Given the description of an element on the screen output the (x, y) to click on. 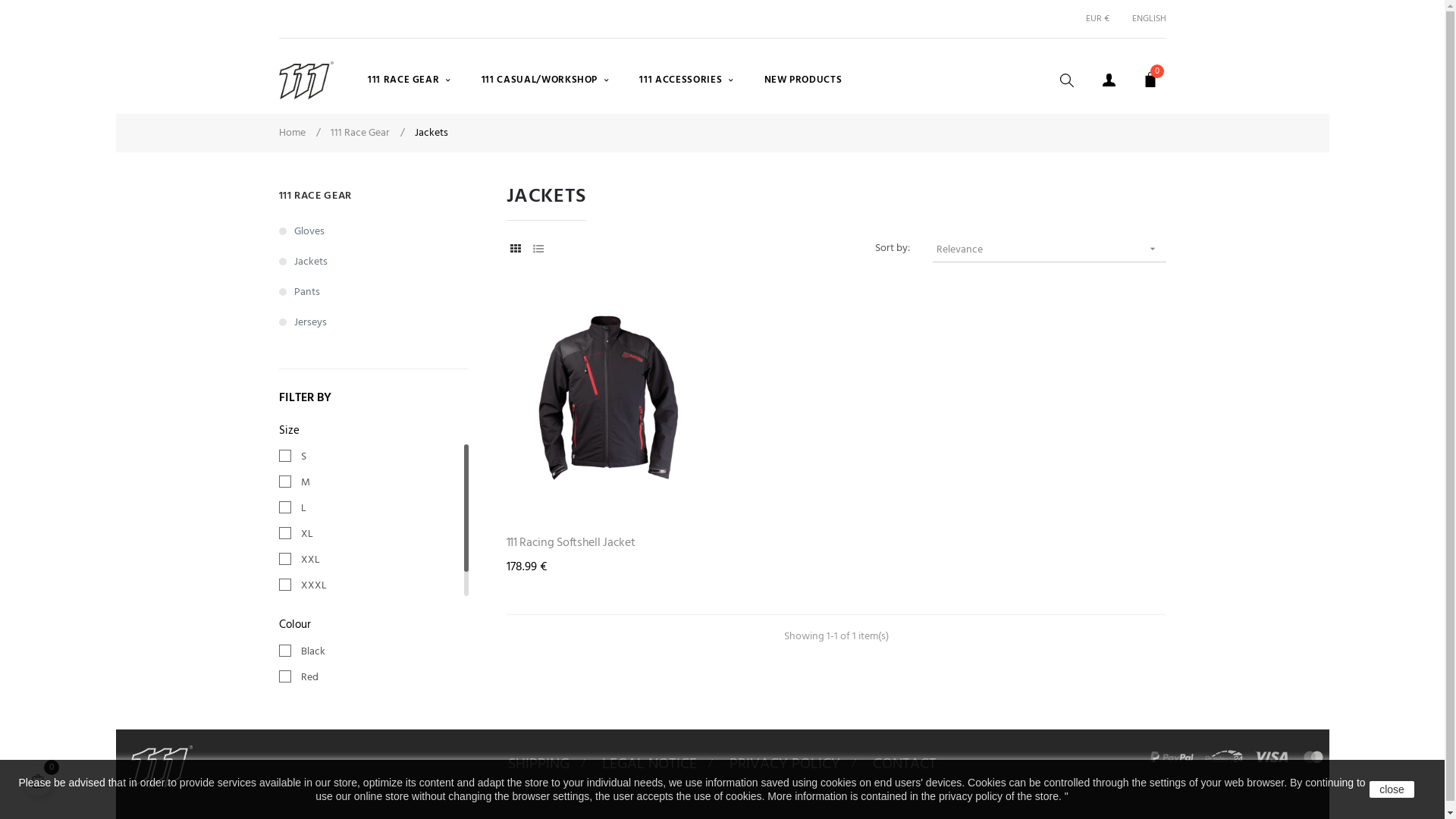
List Element type: hover (538, 249)
111 Race Gear Element type: text (363, 133)
111 Racing Softshell Jacket Element type: text (608, 542)
Red Element type: text (375, 677)
LEGAL NOTICE Element type: text (649, 764)
CONTACT Element type: text (904, 764)
Gloves Element type: text (373, 231)
L Element type: text (373, 508)
PRIVACY POLICY Element type: text (784, 764)
SHIPPING Element type: text (538, 764)
Jackets Element type: text (373, 262)
M Element type: text (373, 482)
ENGLISH Element type: text (1143, 18)
Home Element type: text (296, 133)
XXL Element type: text (373, 559)
Grid Element type: hover (515, 249)
Account Element type: hover (1108, 80)
Jerseys Element type: text (373, 322)
Black Element type: text (375, 651)
close Element type: text (1391, 789)
4XL Element type: text (373, 611)
NEW PRODUCTS Element type: text (803, 80)
111 CASUAL/WORKSHOP Element type: text (545, 80)
XL Element type: text (373, 534)
111 RACE GEAR Element type: text (315, 195)
Pants Element type: text (373, 292)
Jackets Element type: text (430, 133)
XXXL Element type: text (373, 585)
111 RACE GEAR Element type: text (409, 80)
S Element type: text (373, 456)
111 ACCESSORIES Element type: text (686, 80)
